Given the description of an element on the screen output the (x, y) to click on. 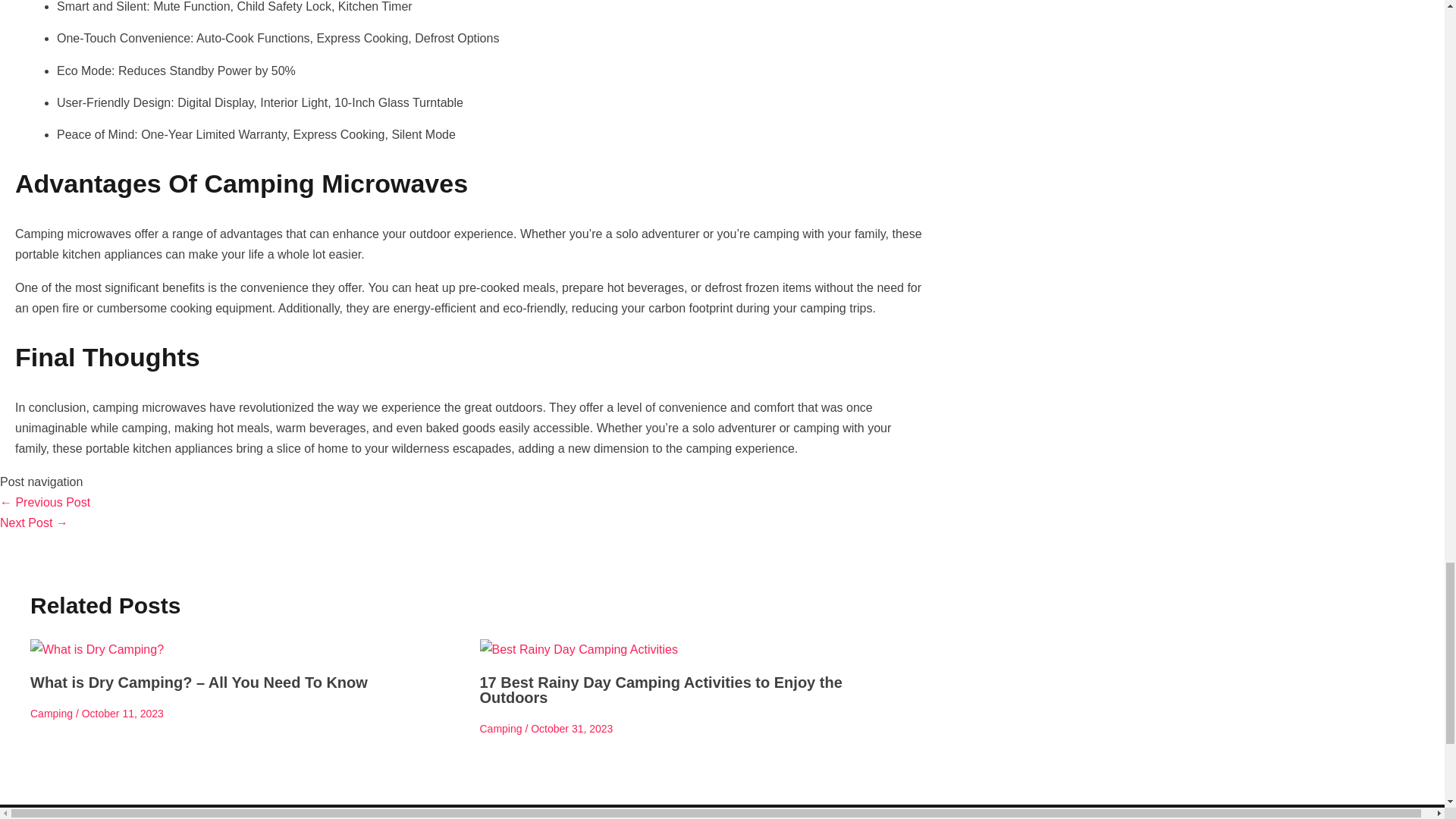
Camping (51, 713)
17 Best Rainy Day Camping Activities to Enjoy the Outdoors (660, 689)
How Deep Are The Great Lakes (34, 522)
What is Dry Camping? - All You Need To Know 8 (96, 649)
14 Best Lakes in Washington: Washington's Natural Wonders (45, 502)
Camping (500, 728)
17 Best Rainy Day Camping Activities to Enjoy the Outdoors 9 (578, 649)
